Given the description of an element on the screen output the (x, y) to click on. 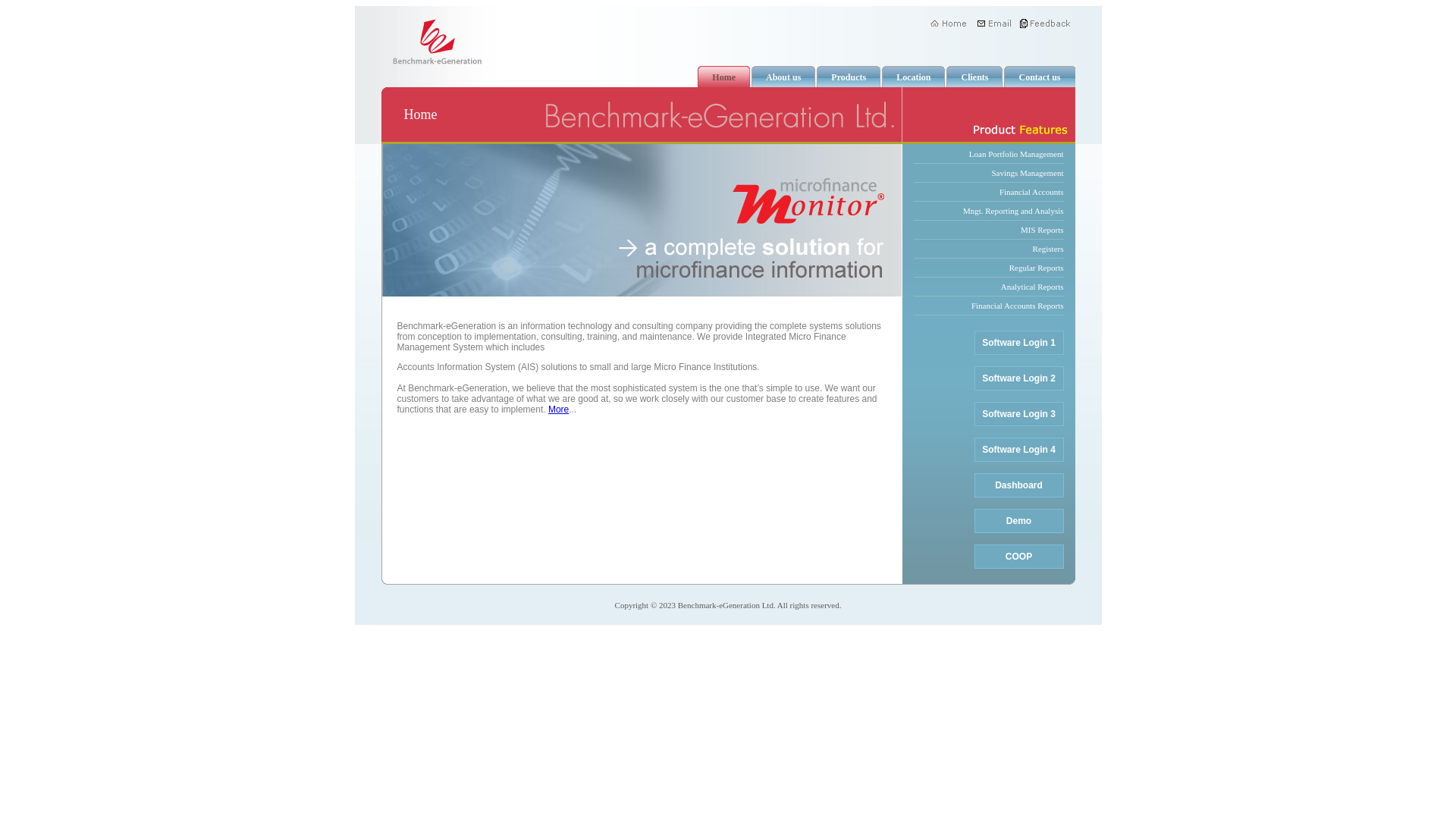
Savings Management Element type: text (988, 172)
Location Element type: text (916, 76)
Financial Accounts Reports Element type: text (988, 305)
About us Element type: text (786, 76)
Regular Reports Element type: text (988, 267)
Home Element type: text (726, 76)
Products Element type: text (851, 76)
Mngt. Reporting and Analysis Element type: text (988, 210)
Software Login 2 Element type: text (1018, 378)
Software Login 1 Element type: text (1018, 342)
Contact us Element type: text (1042, 76)
Loan Portfolio Management Element type: text (988, 153)
More Element type: text (558, 409)
COOP Element type: text (1018, 556)
Analytical Reports Element type: text (988, 286)
Demo Element type: text (1018, 520)
Dashboard Element type: text (1018, 485)
MIS Reports Element type: text (988, 229)
Clients Element type: text (977, 76)
Software Login 3 Element type: text (1018, 413)
Registers Element type: text (988, 248)
Financial Accounts Element type: text (988, 191)
Software Login 4 Element type: text (1018, 449)
